Given the description of an element on the screen output the (x, y) to click on. 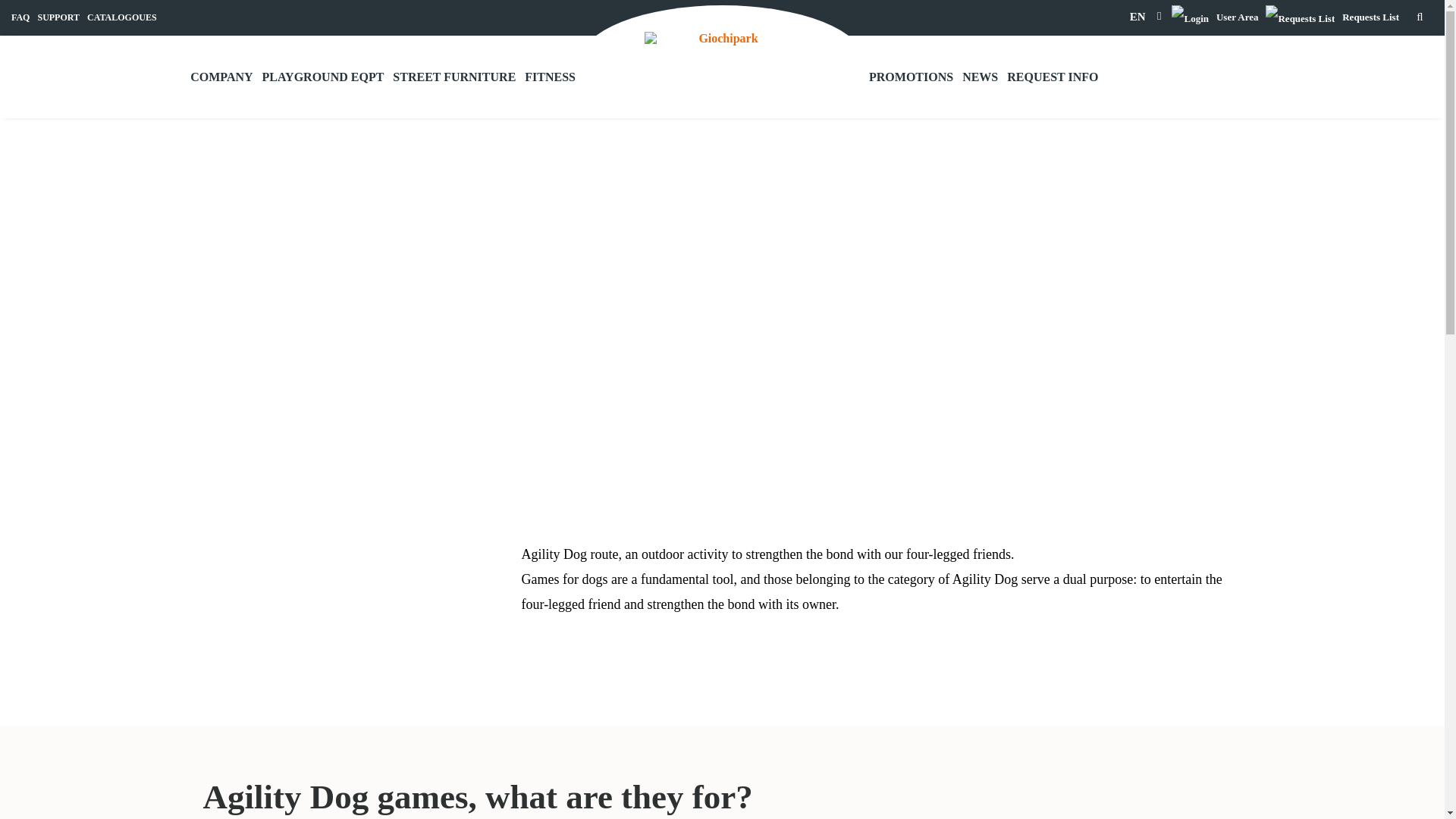
User Area (1214, 16)
PROMOTIONS (911, 76)
FAQ (20, 17)
STREET FURNITURE (453, 76)
Requests List (1332, 16)
EN (1137, 16)
SUPPORT (58, 17)
Playground EQPT (322, 76)
REQUEST INFO (1052, 76)
PLAYGROUND EQPT (322, 76)
